Given the description of an element on the screen output the (x, y) to click on. 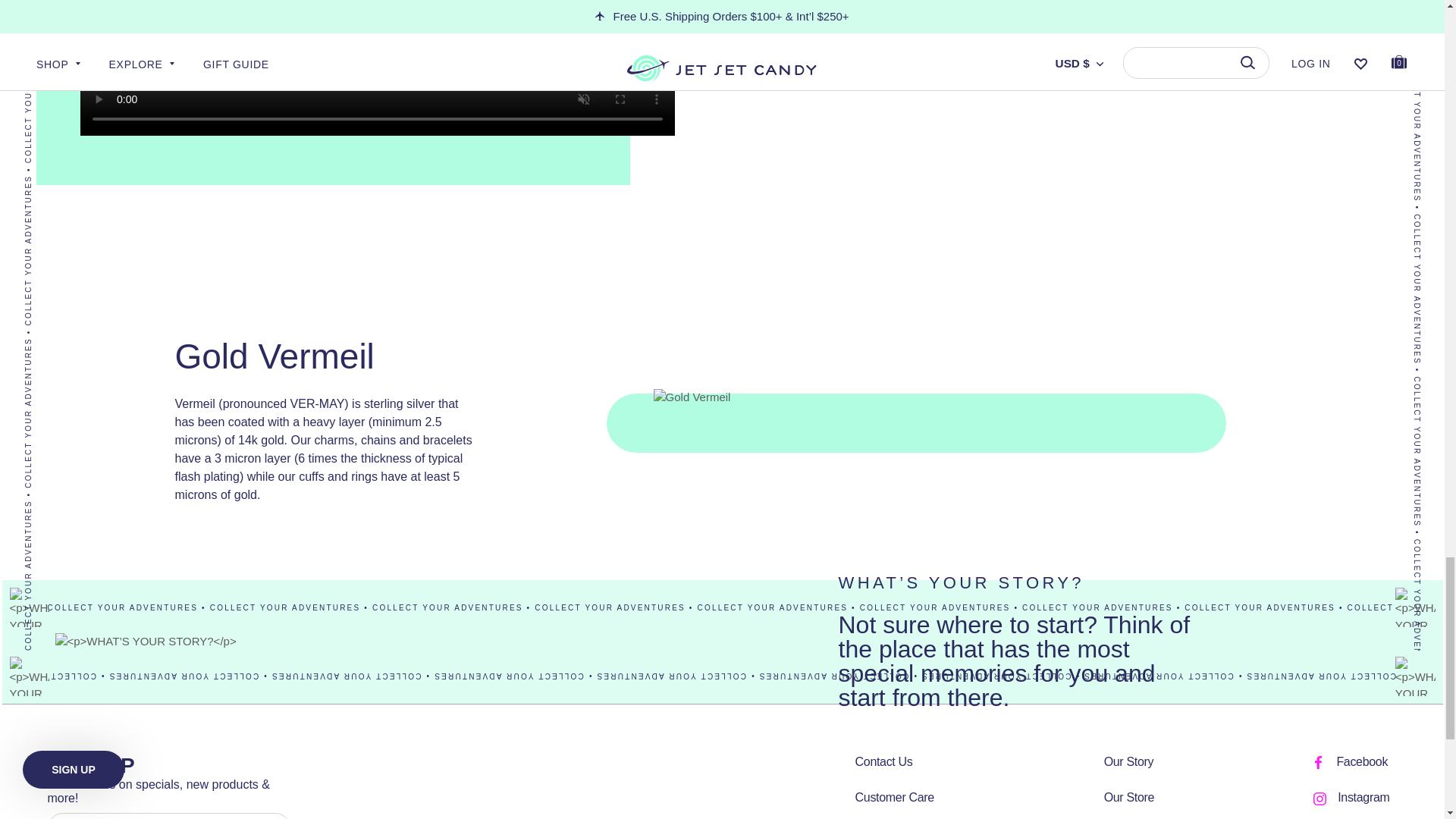
Instagram (1319, 798)
